Given the description of an element on the screen output the (x, y) to click on. 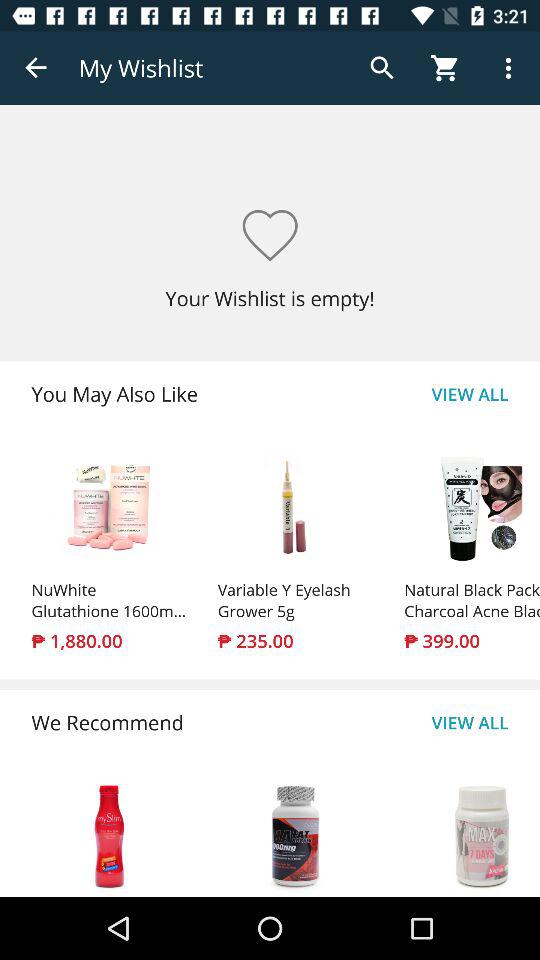
go back (36, 68)
